Given the description of an element on the screen output the (x, y) to click on. 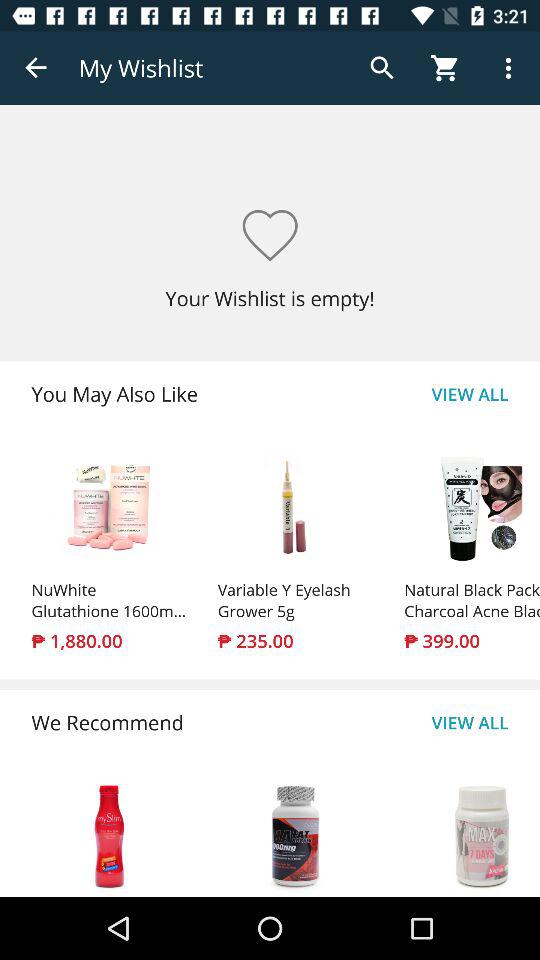
go back (36, 68)
